Given the description of an element on the screen output the (x, y) to click on. 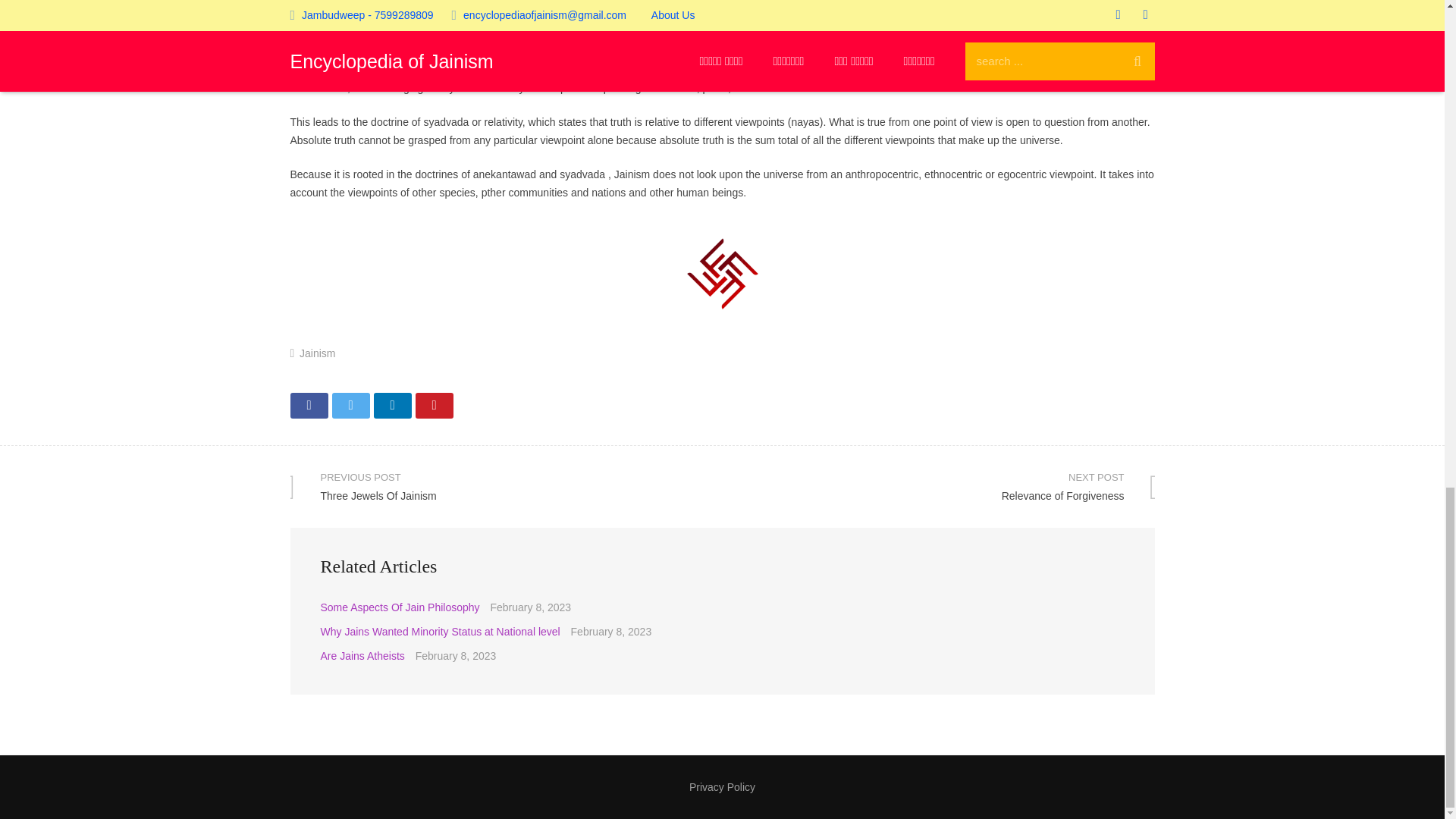
Why Jains Wanted Minority Status at National level (439, 631)
Share this (308, 405)
Share this (391, 405)
Privacy Policy (721, 787)
Some Aspects Of Jain Philosophy (399, 607)
Tweet this (505, 486)
Are Jains Atheists (350, 405)
Jainism (362, 655)
Pin this (316, 353)
